Given the description of an element on the screen output the (x, y) to click on. 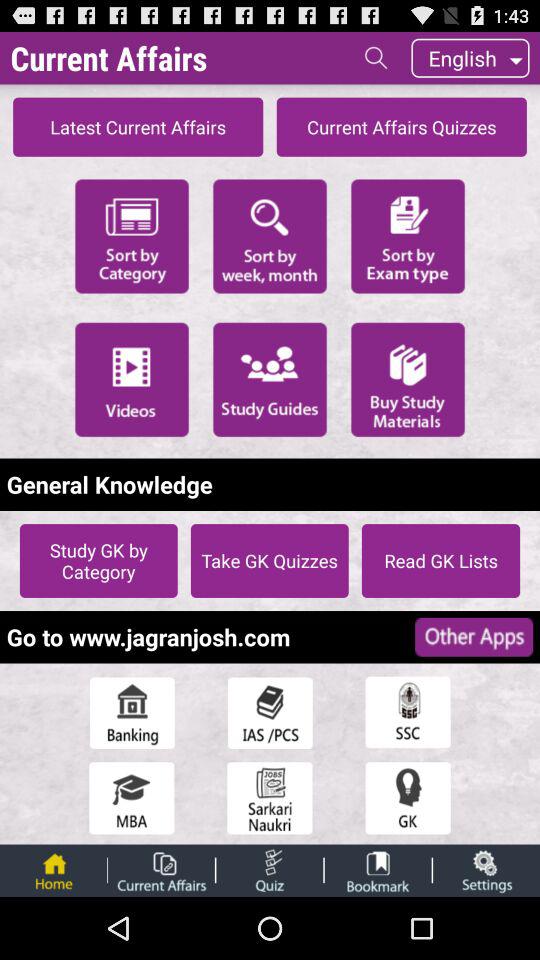
open the icon below the read gk lists (474, 636)
